Given the description of an element on the screen output the (x, y) to click on. 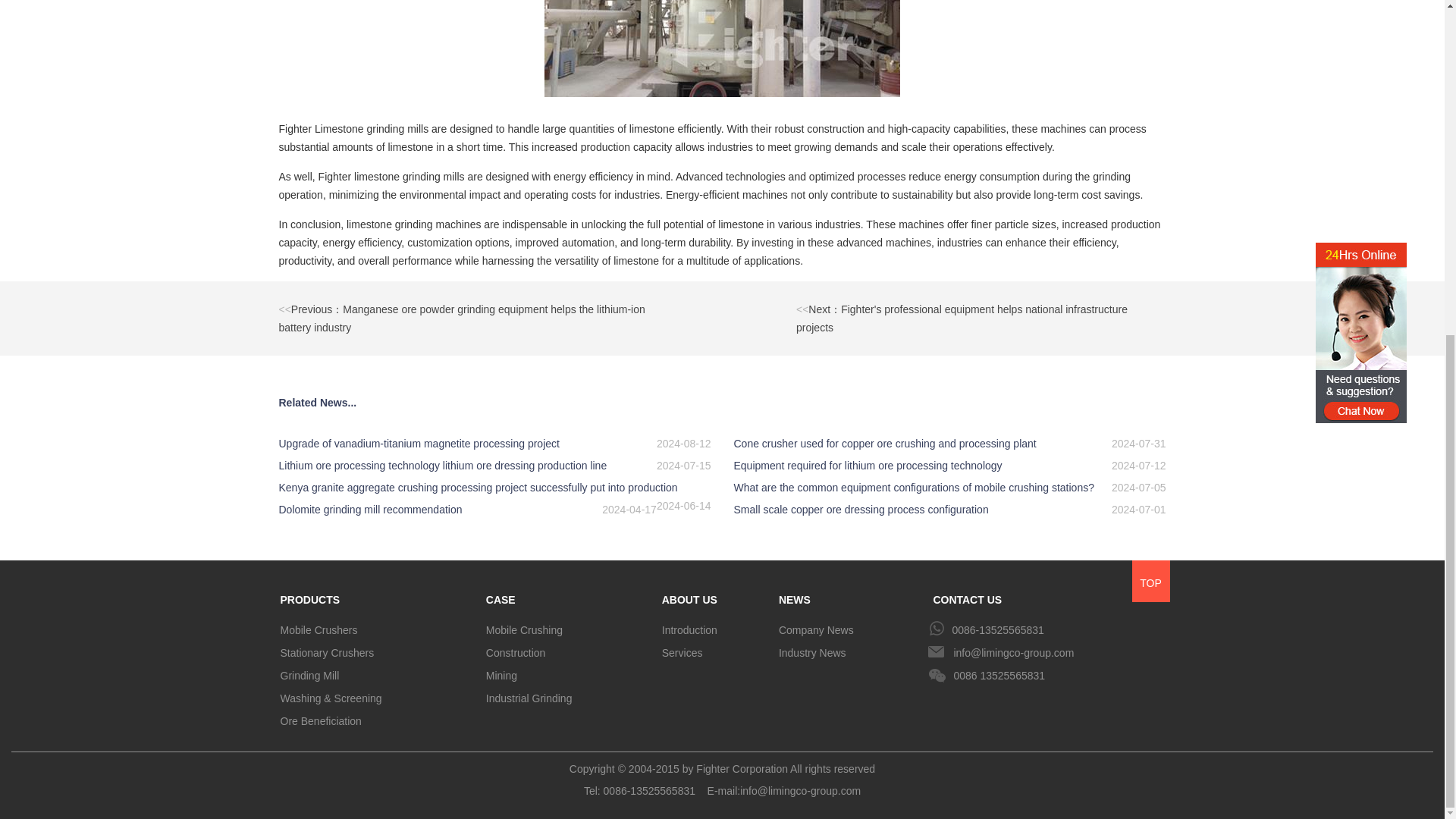
Services (714, 652)
0086-13525565831 (1048, 630)
NEWS (850, 596)
CASE (568, 596)
Grinding Mill (377, 675)
Construction (568, 652)
PRODUCTS (377, 596)
Industry News (850, 652)
Mobile Crushers (377, 630)
Stationary Crushers (377, 652)
